Given the description of an element on the screen output the (x, y) to click on. 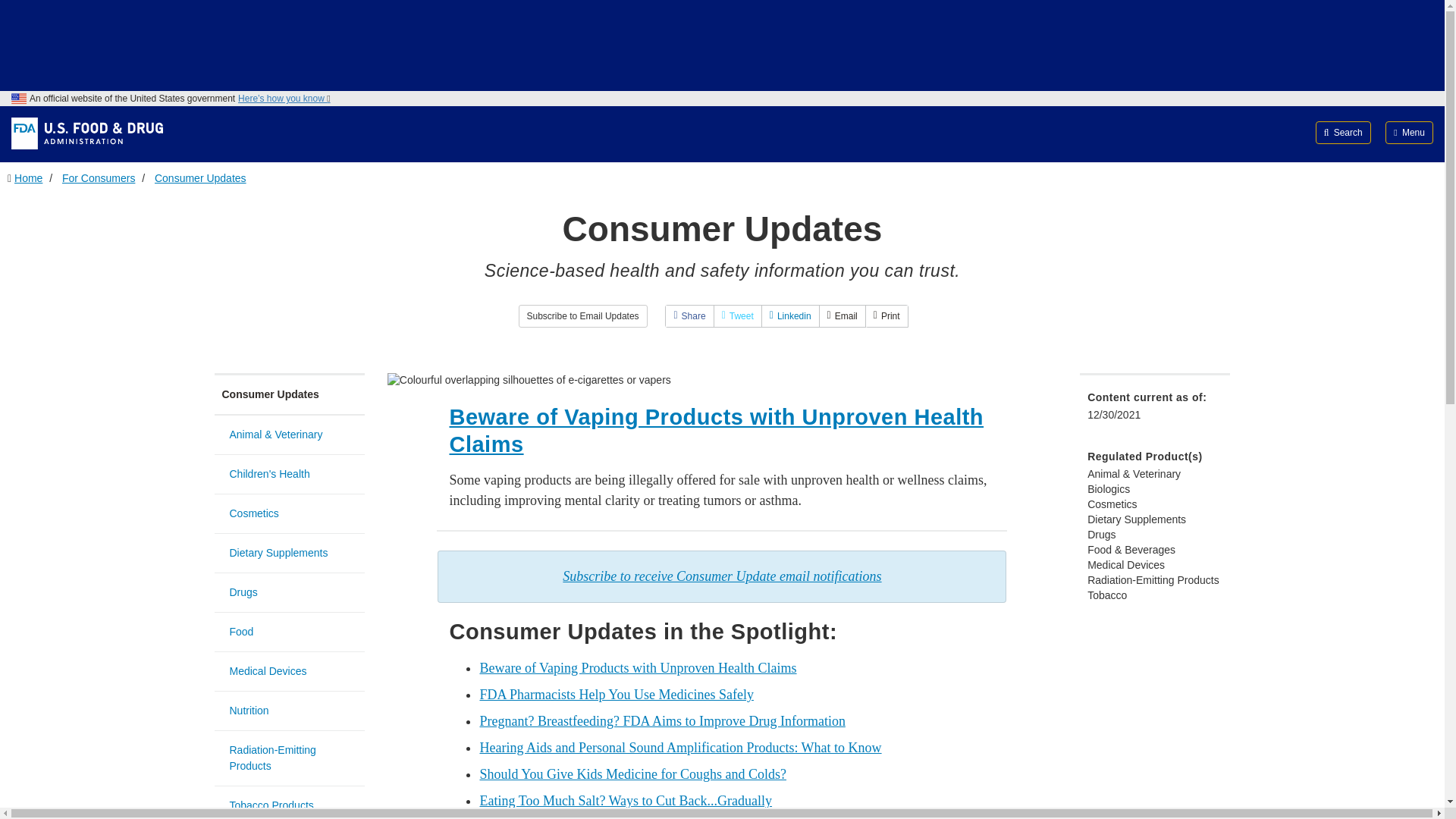
Beware of Vaping Products with Unproven Health Claims  (716, 430)
Eating Too Much Salt? Ways to Cut Back...Gradually (625, 800)
Beware of Vaping Products with Unproven Health Claims  (637, 667)
FDA Pharmacists Help You Use Medicines Safely (615, 694)
  Menu (1409, 132)
  Search (1343, 132)
Print this page (886, 315)
